Given the description of an element on the screen output the (x, y) to click on. 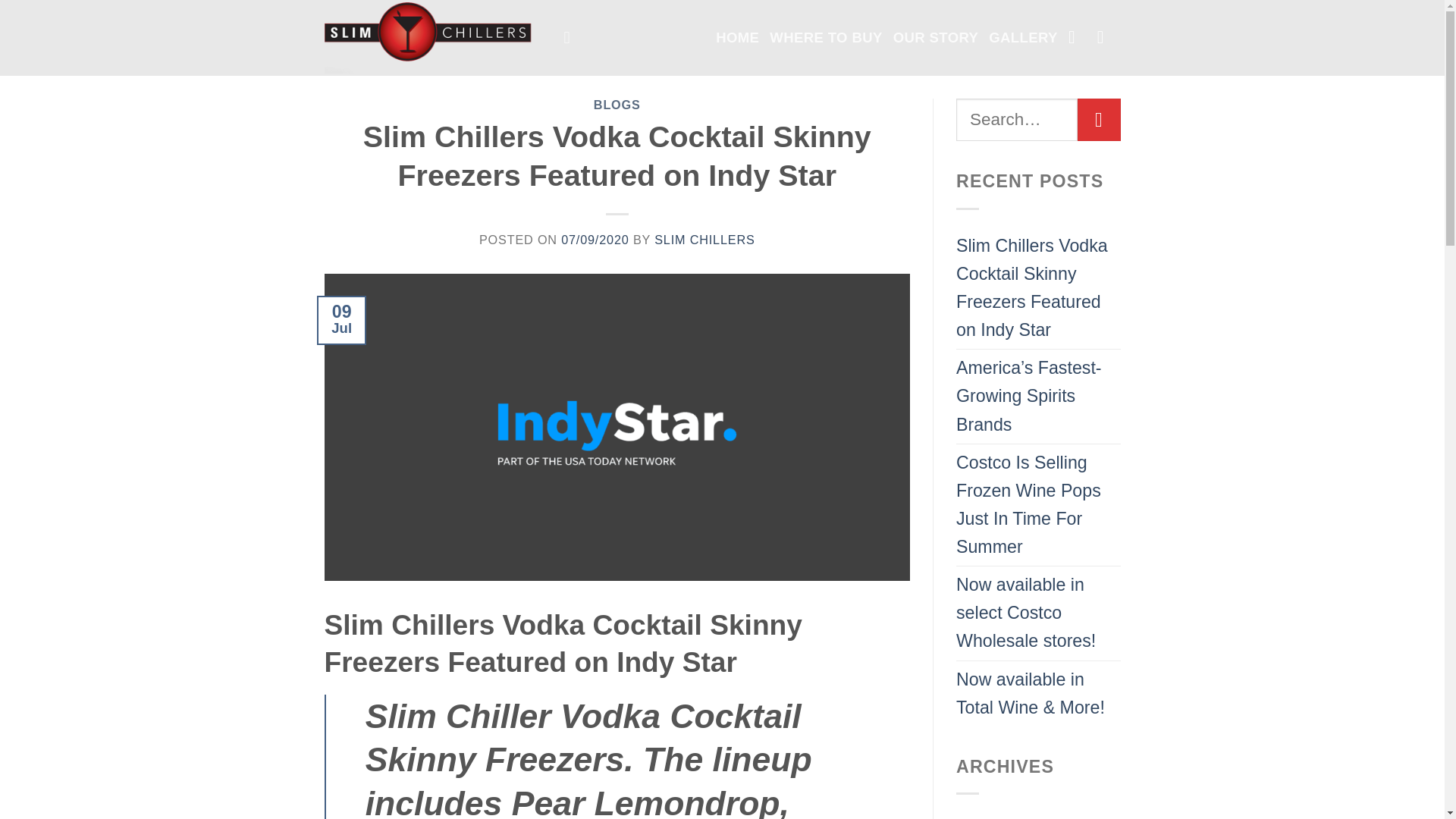
Now available in select Costco Wholesale stores! (1038, 613)
WHERE TO BUY (826, 37)
SLIM CHILLERS (703, 239)
Slim Chillers - The Premium Low Calorie Cocktail (432, 38)
OUR STORY (935, 37)
BLOGS (617, 104)
Costco Is Selling Frozen Wine Pops Just In Time For Summer (1038, 505)
GALLERY (1023, 37)
July 2020 (993, 815)
HOME (737, 37)
